Given the description of an element on the screen output the (x, y) to click on. 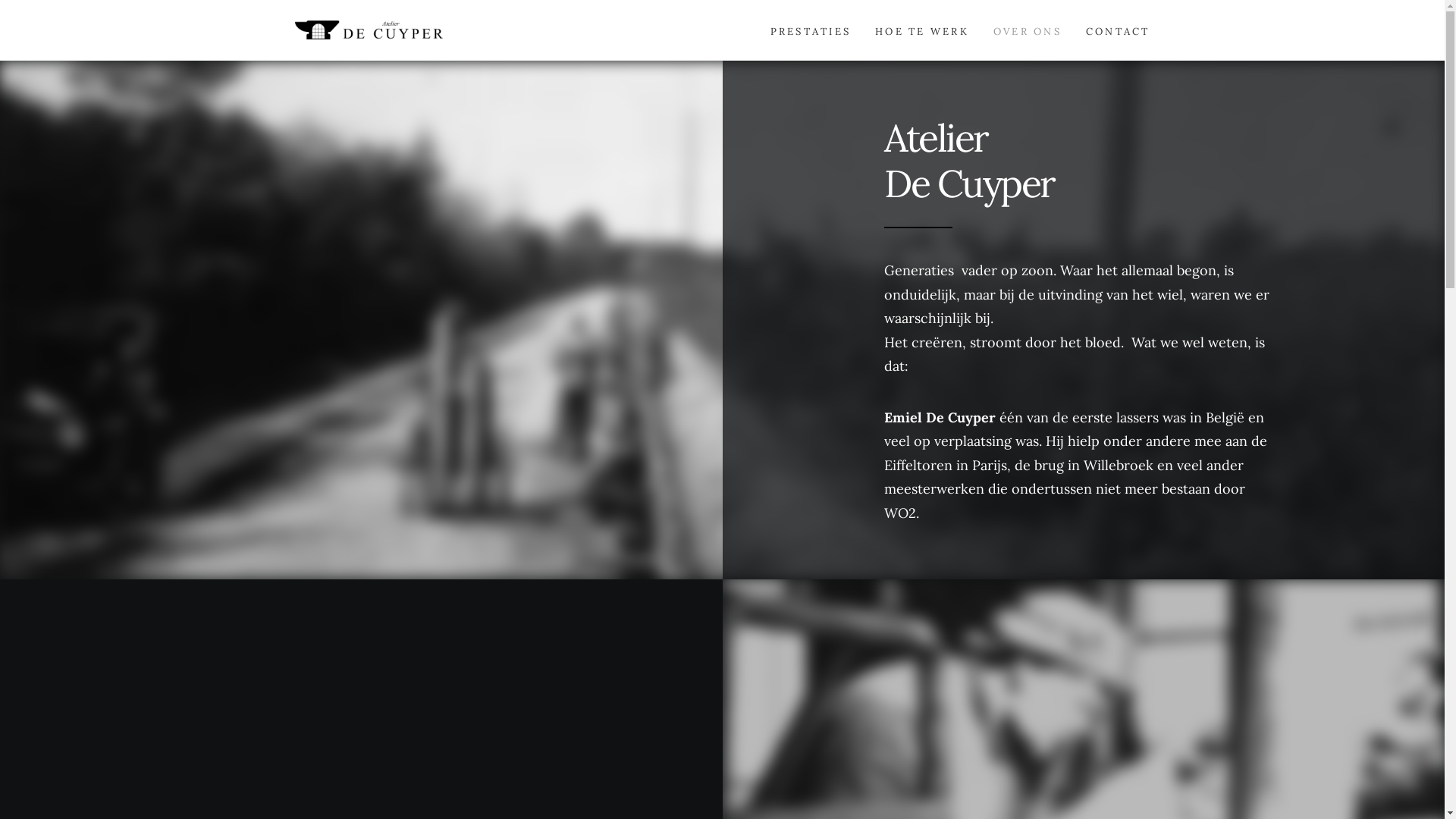
CONTACT Element type: text (1112, 29)
OVER ONS Element type: text (1027, 29)
HOE TE WERK Element type: text (921, 29)
PRESTATIES Element type: text (810, 29)
